Given the description of an element on the screen output the (x, y) to click on. 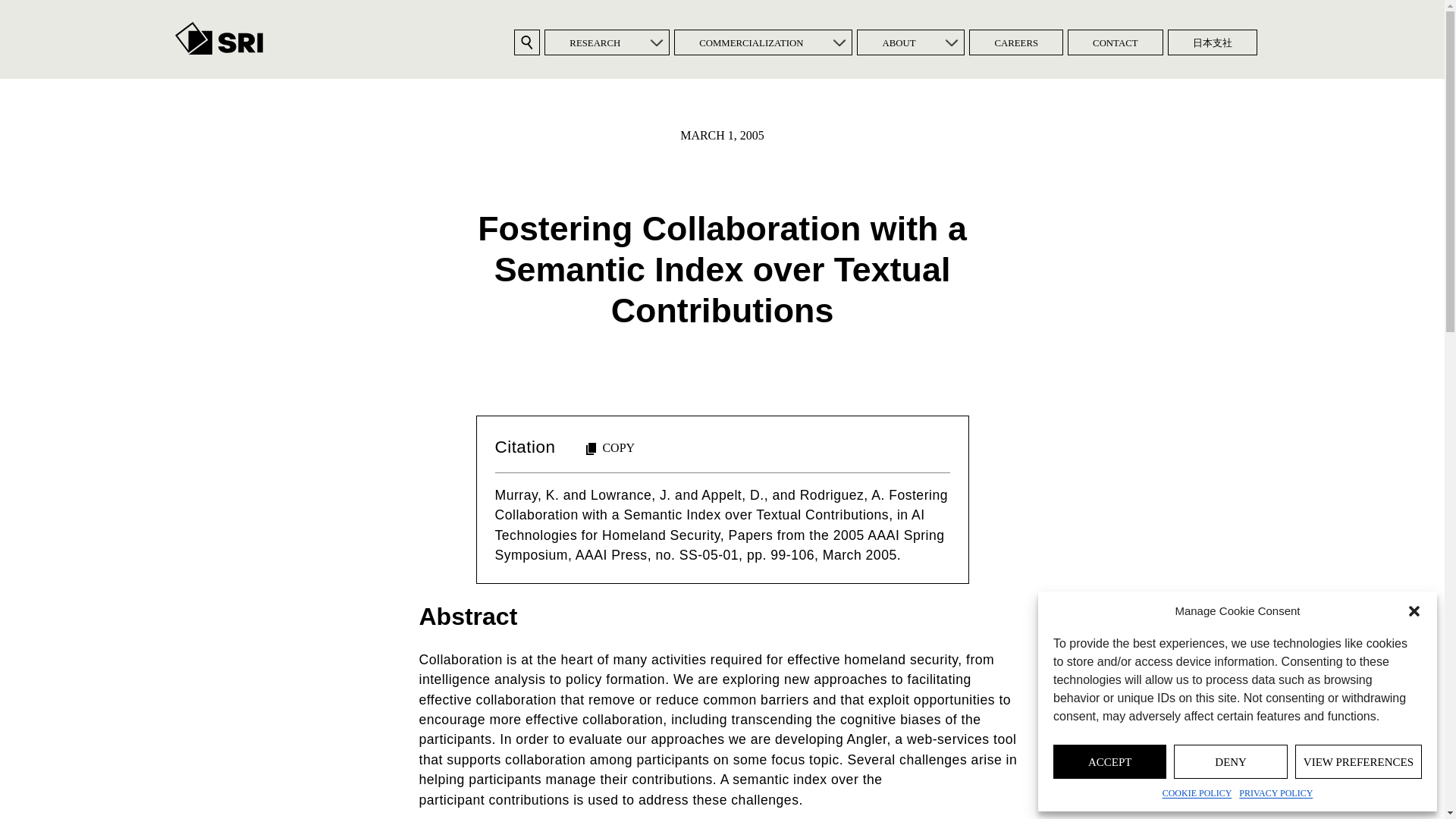
RESEARCH (594, 42)
CONTACT (1114, 42)
DENY (1230, 761)
COOKIE POLICY (1196, 793)
PRIVACY POLICY (1276, 793)
Subscribe (622, 460)
COMMERCIALIZATION (751, 42)
ACCEPT (1109, 761)
VIEW PREFERENCES (1358, 761)
CAREERS (1015, 42)
ABOUT (898, 42)
